Given the description of an element on the screen output the (x, y) to click on. 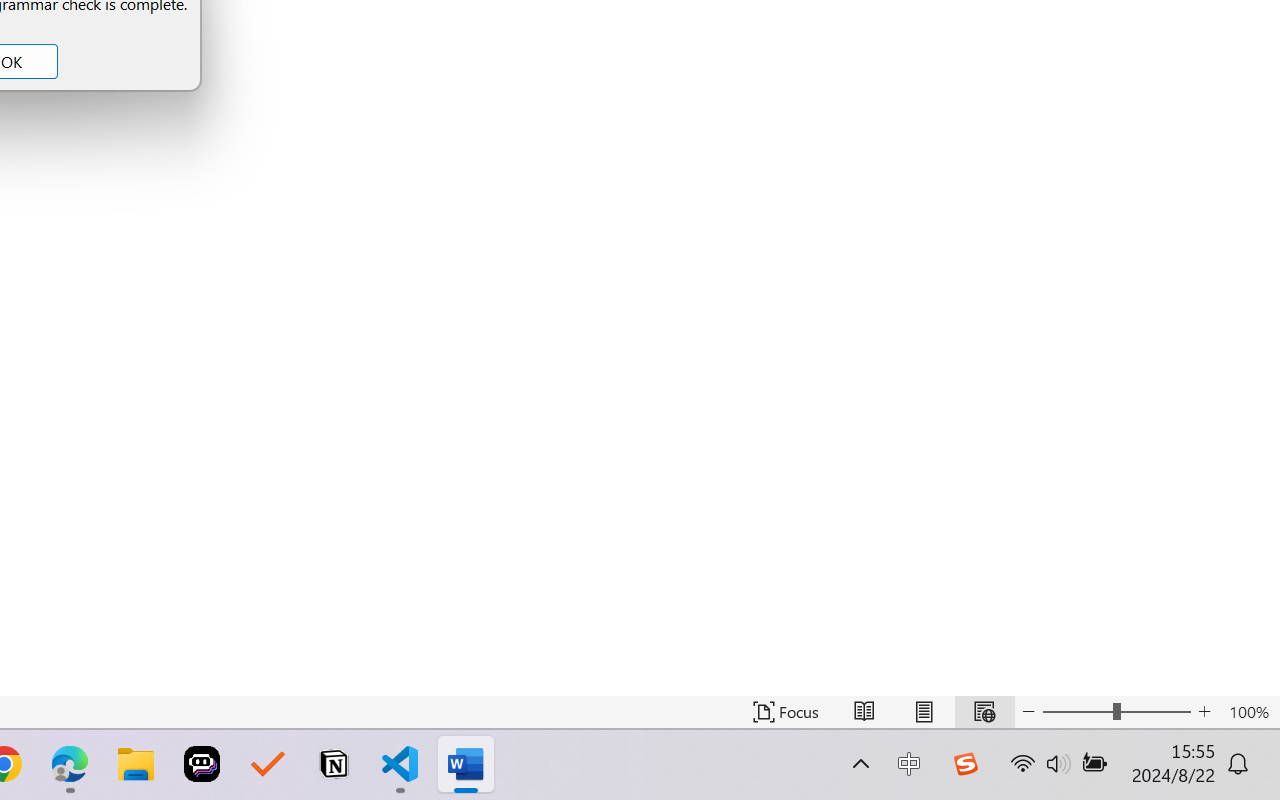
Read Mode (864, 712)
Zoom 100% (1249, 712)
Print Layout (924, 712)
Zoom (1116, 712)
Zoom Out (1077, 712)
Zoom In (1204, 712)
Class: Image (965, 764)
Web Layout (984, 712)
